Given the description of an element on the screen output the (x, y) to click on. 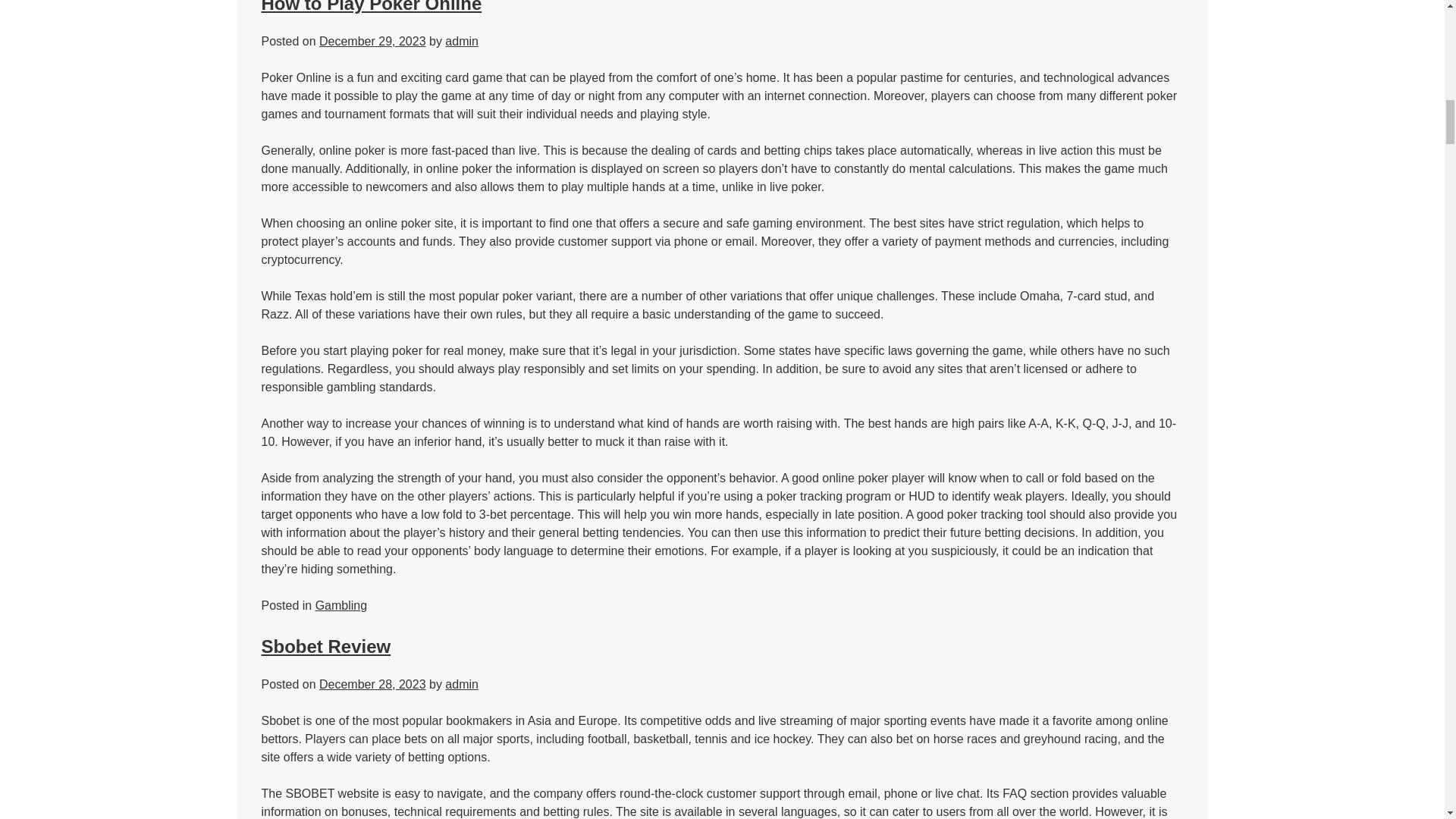
admin (462, 41)
Gambling (340, 604)
December 28, 2023 (372, 684)
admin (462, 684)
How to Play Poker Online (370, 6)
Sbobet Review (325, 646)
December 29, 2023 (372, 41)
